Given the description of an element on the screen output the (x, y) to click on. 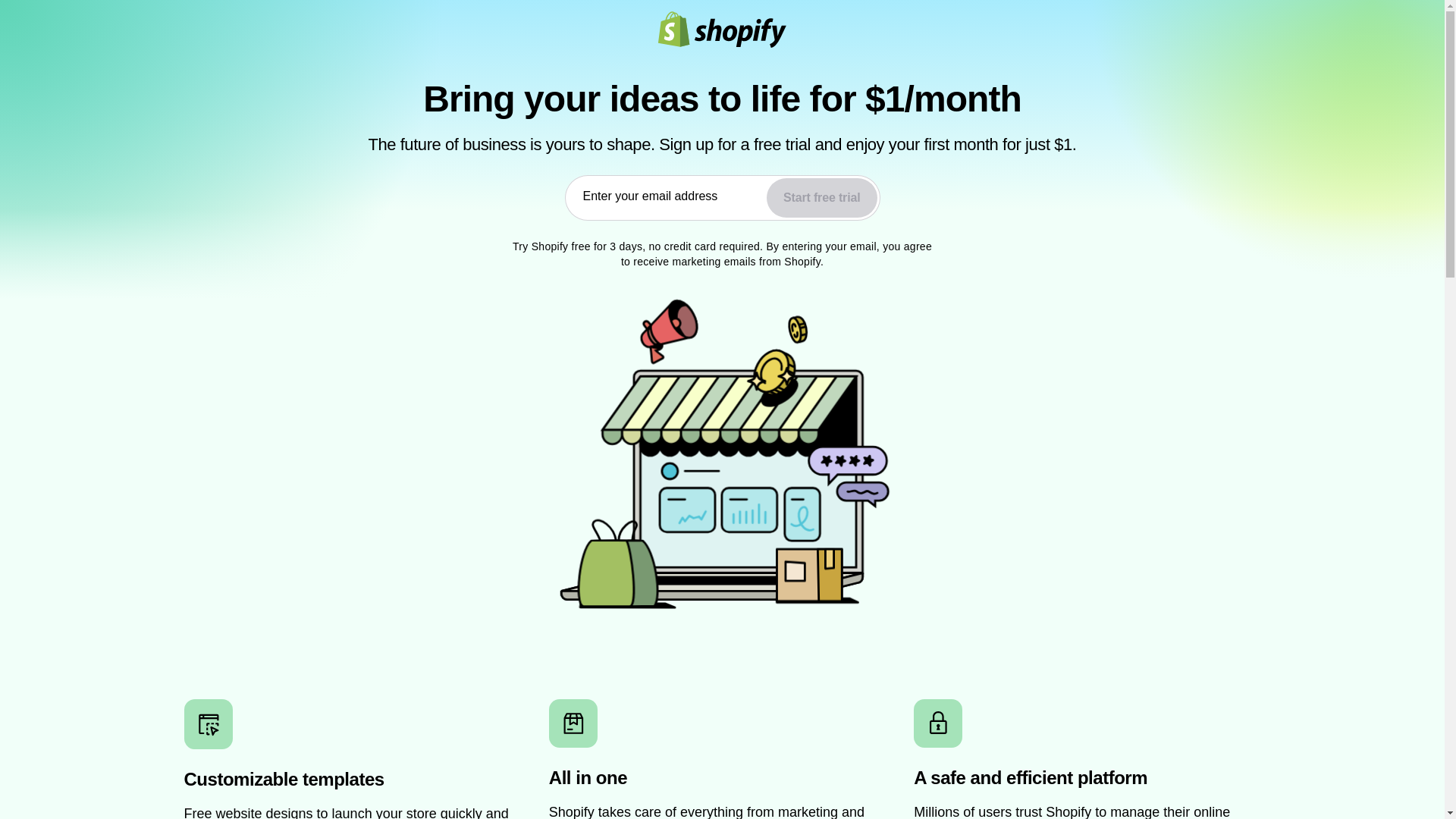
Start free trial (821, 197)
